Given the description of an element on the screen output the (x, y) to click on. 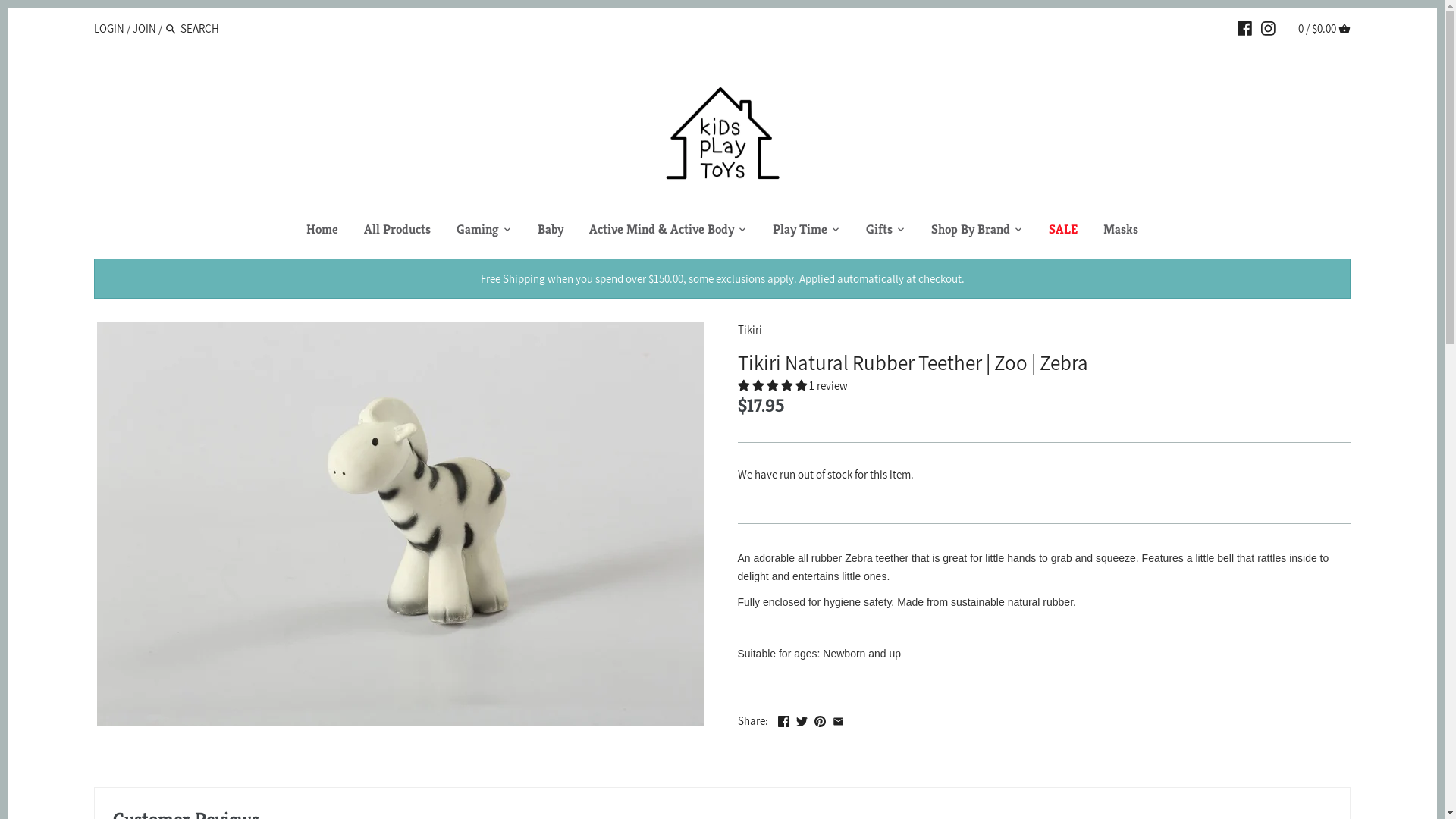
LOGIN Element type: text (109, 28)
FACEBOOK Element type: text (1244, 27)
Play Time Element type: text (799, 231)
INSTAGRAM Element type: text (1268, 27)
SALE Element type: text (1062, 231)
0 / $0.00 CART Element type: text (1324, 28)
Masks Element type: text (1120, 231)
Facebook Element type: text (783, 719)
Baby Element type: text (550, 231)
JOIN Element type: text (144, 28)
Pinterest Element type: text (819, 719)
Home Element type: text (322, 231)
Gaming Element type: text (477, 231)
Twitter Element type: text (801, 719)
Active Mind & Active Body Element type: text (661, 231)
Email Element type: text (838, 719)
Shop By Brand Element type: text (970, 231)
All Products Element type: text (397, 231)
Gifts Element type: text (879, 231)
Tikiri Element type: text (749, 329)
Search Element type: text (170, 29)
